Given the description of an element on the screen output the (x, y) to click on. 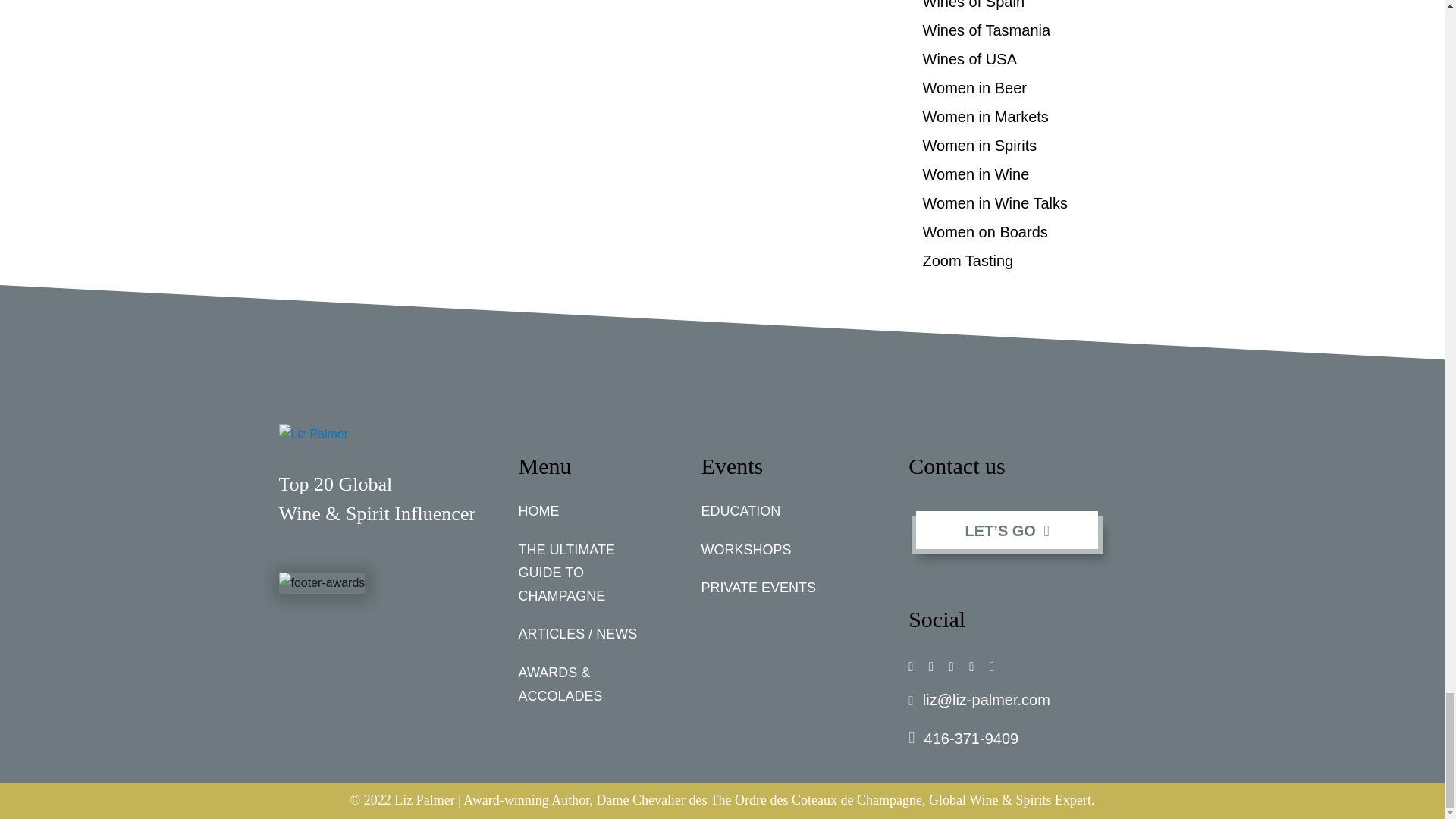
facebook (910, 666)
twitter (951, 666)
envelope-o (992, 666)
instagram (930, 666)
linkedin (971, 666)
